Given the description of an element on the screen output the (x, y) to click on. 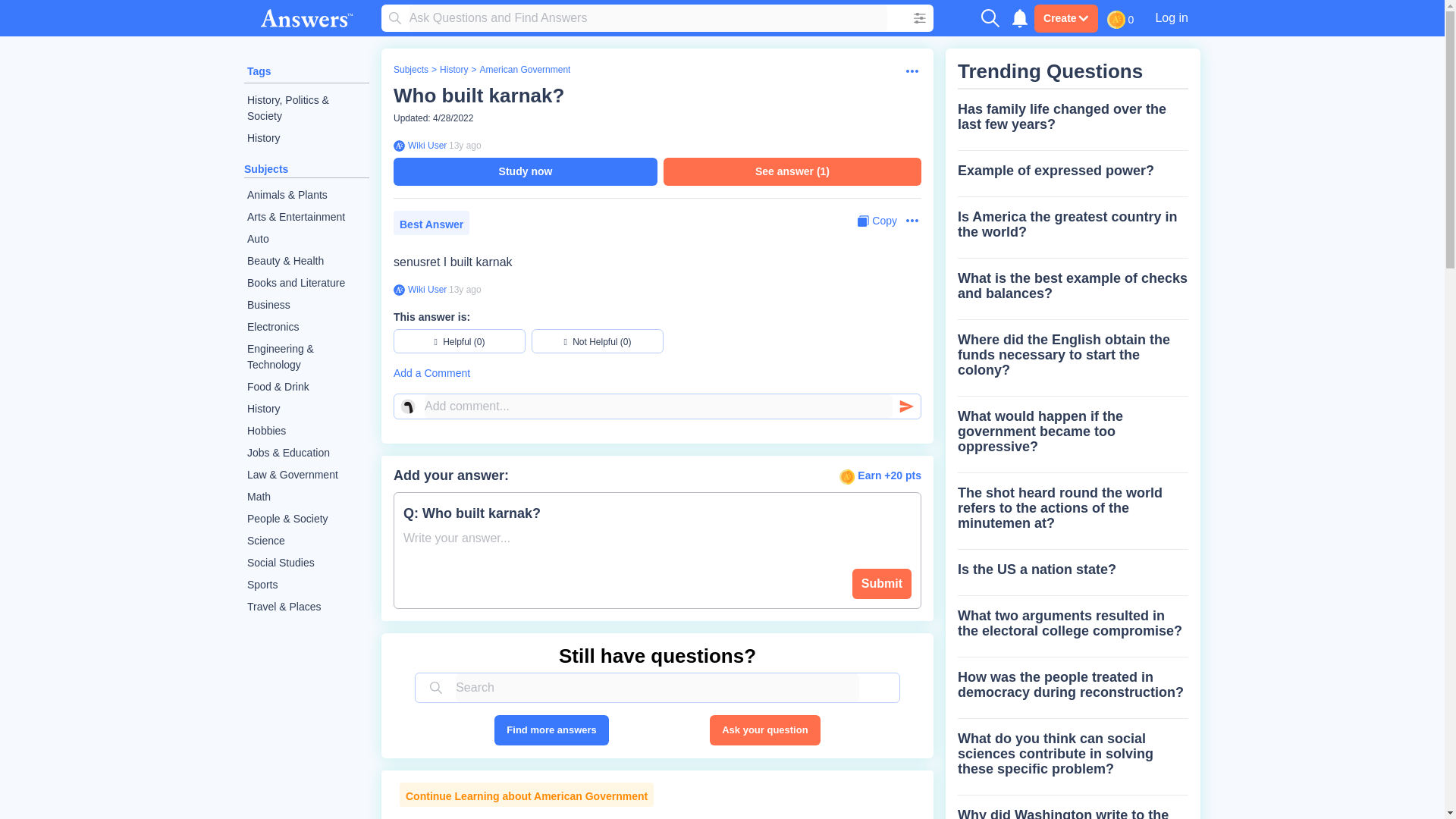
Find more answers (551, 729)
Auto (306, 239)
History (306, 409)
Log in (1170, 17)
Study now (525, 171)
Add a Comment (657, 373)
Sports (306, 585)
Subjects (410, 69)
Hobbies (306, 431)
Social Studies (306, 563)
Business (306, 305)
Subjects (266, 168)
Ask your question (764, 729)
Books and Literature (306, 282)
2011-03-14 02:55:35 (464, 289)
